Given the description of an element on the screen output the (x, y) to click on. 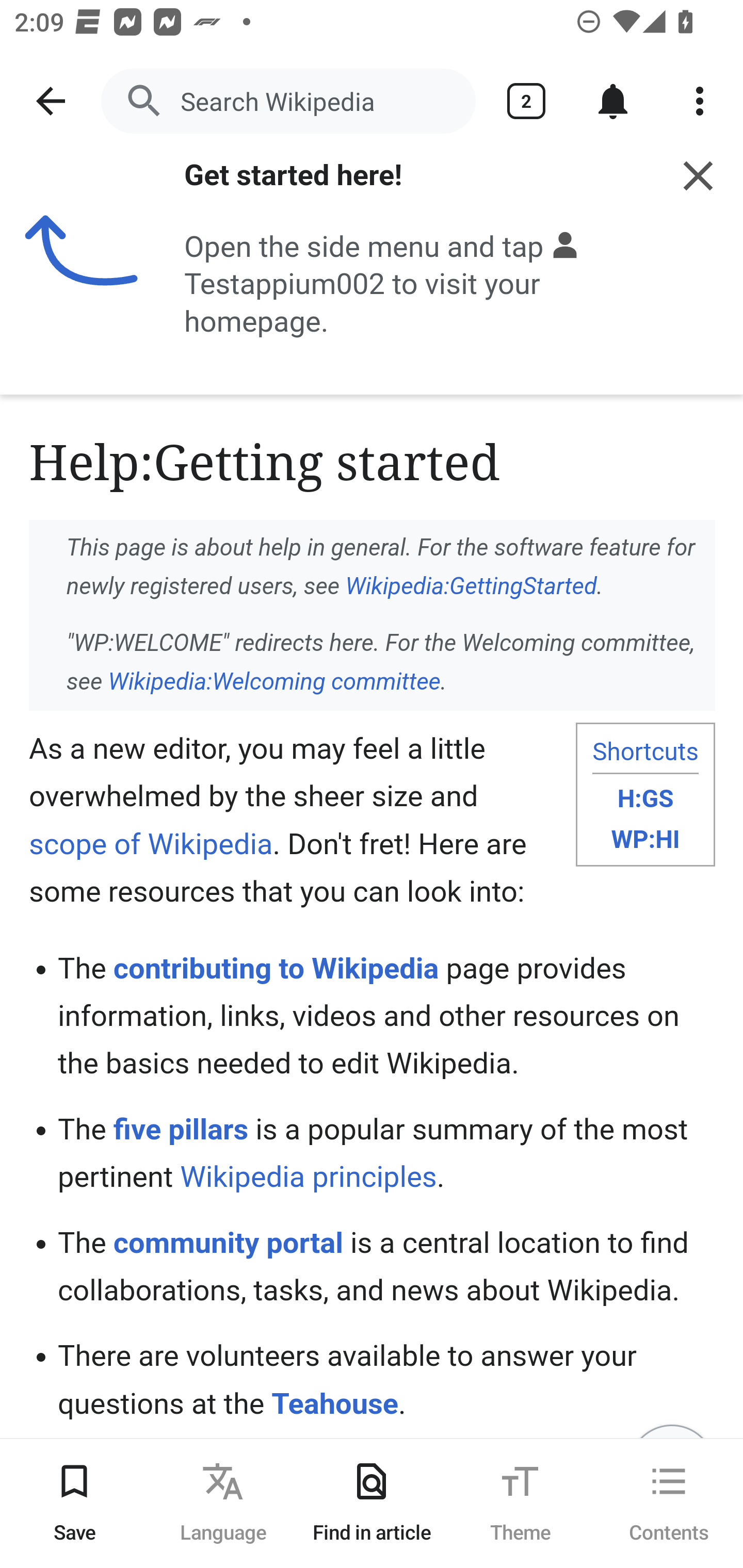
Show tabs 2 (525, 100)
Notifications (612, 100)
Navigate up (50, 101)
More options (699, 101)
Search Wikipedia (288, 100)
Wikipedia:GettingStarted (470, 586)
Wikipedia:Welcoming committee (274, 681)
Shortcuts (645, 751)
H:GS (645, 798)
WP:HI (645, 839)
scope of Wikipedia (151, 844)
contributing to Wikipedia (276, 968)
five pillars (180, 1129)
Wikipedia principles (308, 1176)
community portal (228, 1242)
Teahouse (334, 1404)
Save (74, 1502)
Language (222, 1502)
Find in article (371, 1502)
Theme (519, 1502)
Contents (668, 1502)
